Given the description of an element on the screen output the (x, y) to click on. 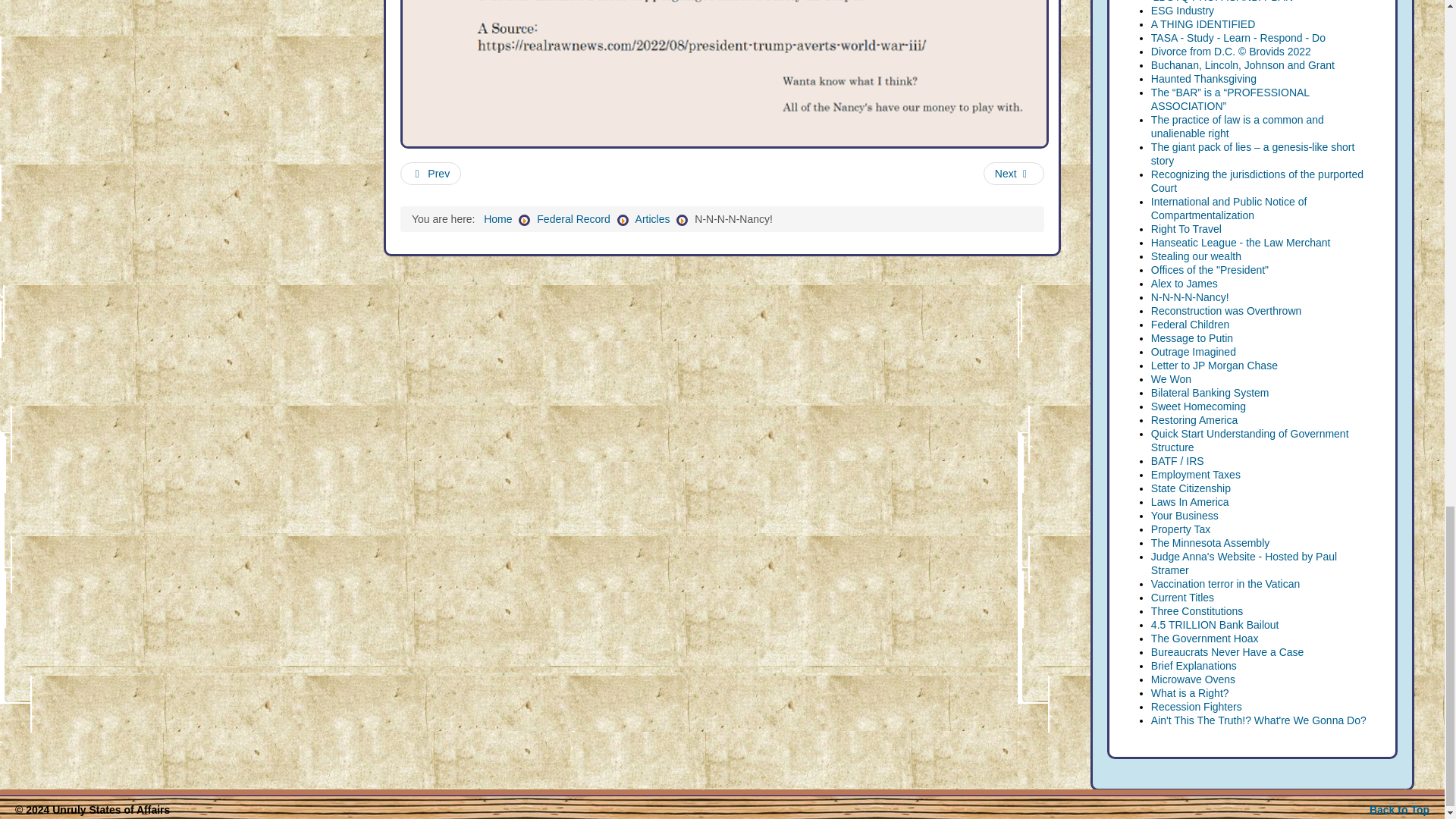
Home (497, 218)
Federal Record (573, 218)
Prev (430, 173)
Next (1013, 173)
Articles (651, 218)
